Given the description of an element on the screen output the (x, y) to click on. 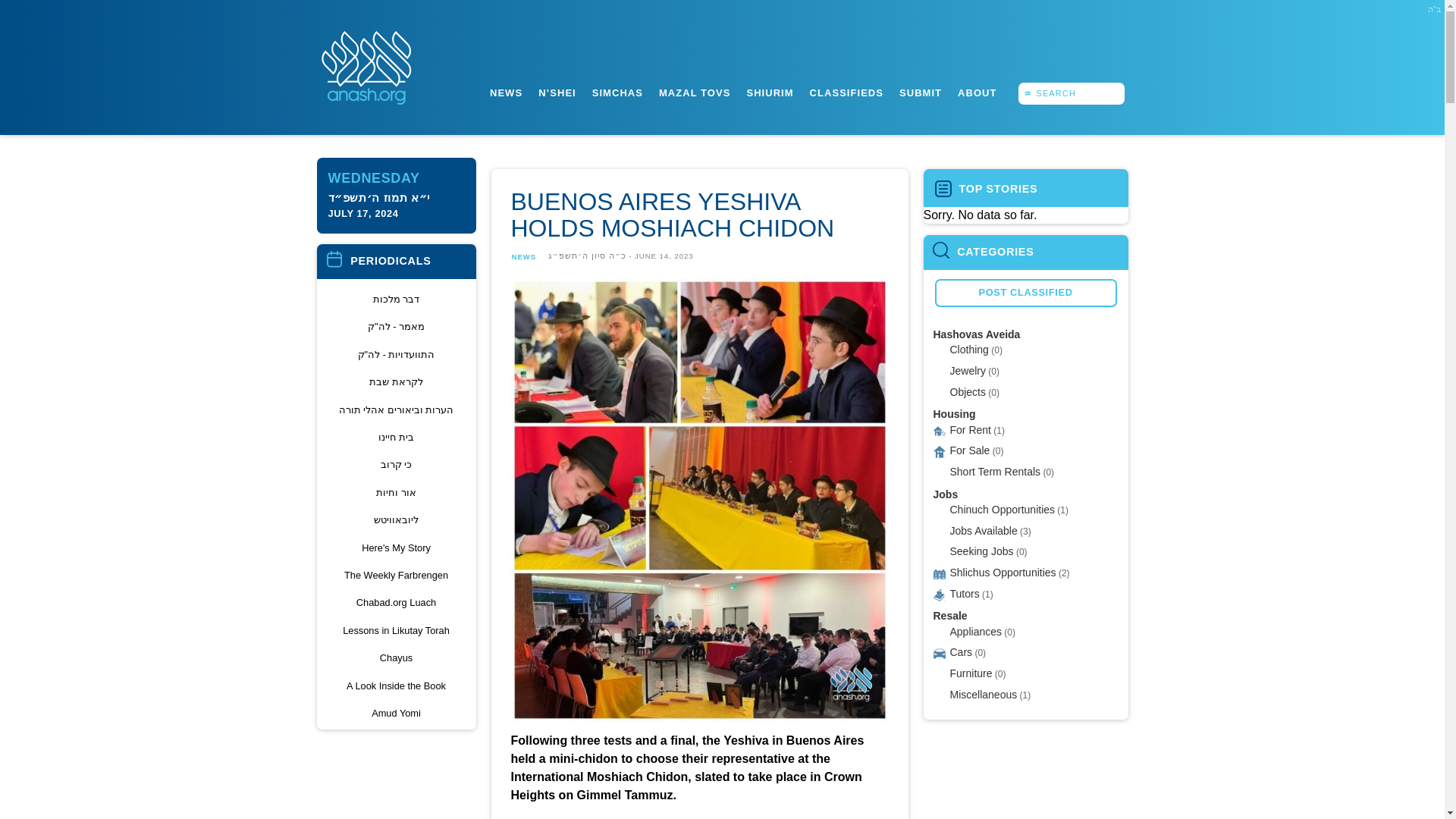
MAZAL TOVS (694, 93)
Lessons in Likutay Torah (396, 629)
CLASSIFIEDS (846, 93)
NEWS (524, 256)
A Look Inside the Book (396, 685)
SIMCHAS (617, 93)
The Weekly Farbrengen (396, 575)
NEWS (505, 93)
Amud Yomi (396, 712)
SHIURIM (769, 93)
Here's My Story (396, 547)
ABOUT (976, 93)
Chayus (396, 657)
Chabad.org Luach (396, 602)
SUBMIT (919, 93)
